Given the description of an element on the screen output the (x, y) to click on. 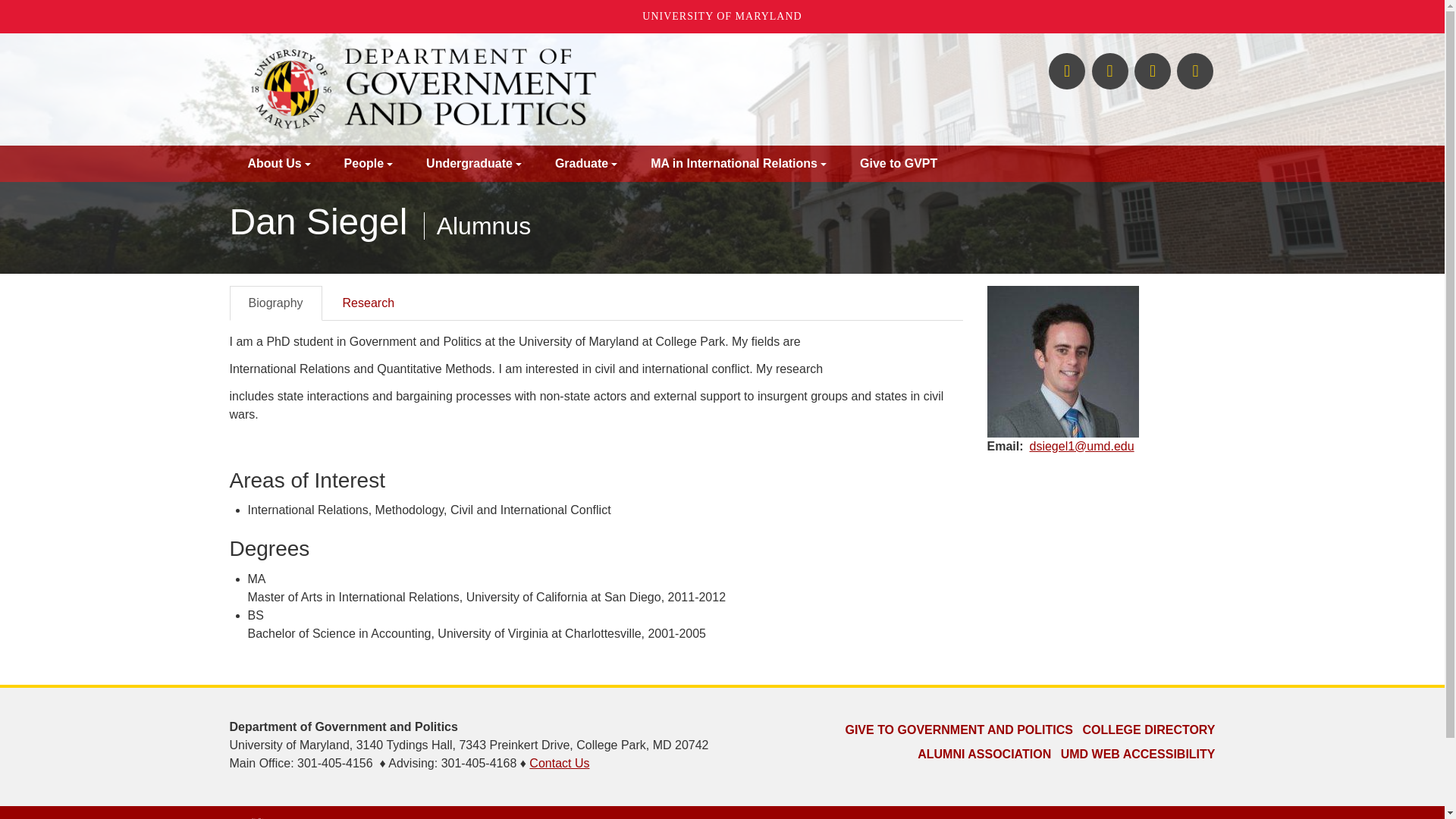
UNIVERSITY OF MARYLAND (722, 16)
GVPT Twitter (1110, 71)
Instagram (1152, 71)
GVPT Twitter (1110, 71)
Home (552, 89)
GVPT Facebook (1066, 71)
GVPT LinkedIn (1194, 71)
GVPT Facebook (1066, 71)
Instagram (1152, 71)
